Given the description of an element on the screen output the (x, y) to click on. 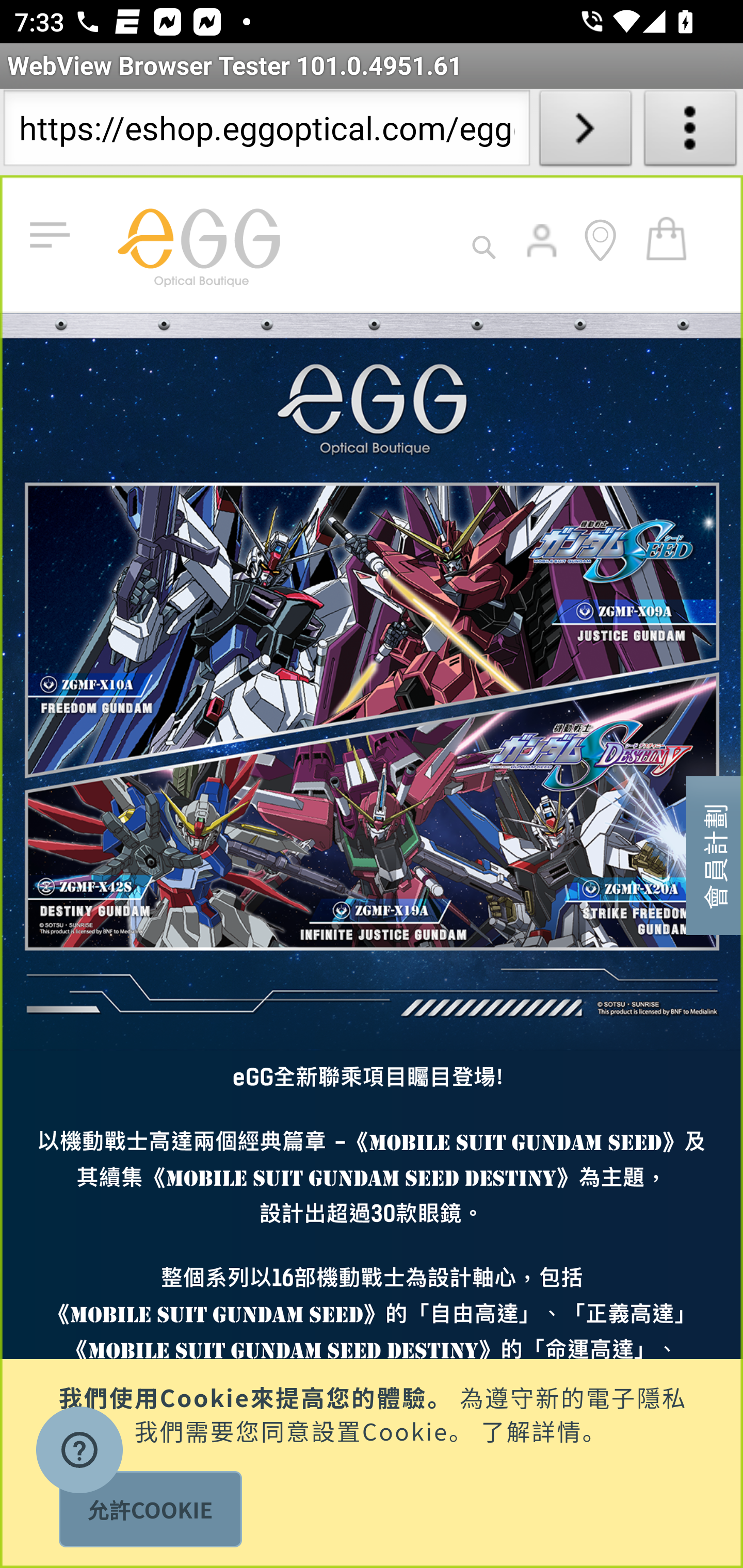
Load URL (585, 132)
About WebView (690, 132)
store logo eGG 網上商店 (198, 243)
切換導航 (54, 235)
我的購物車 (666, 237)
login (543, 254)
會員計劃 (714, 854)
Opens a widget where you can find more information (79, 1452)
了解詳情 (531, 1429)
允許COOKIE (149, 1509)
